Given the description of an element on the screen output the (x, y) to click on. 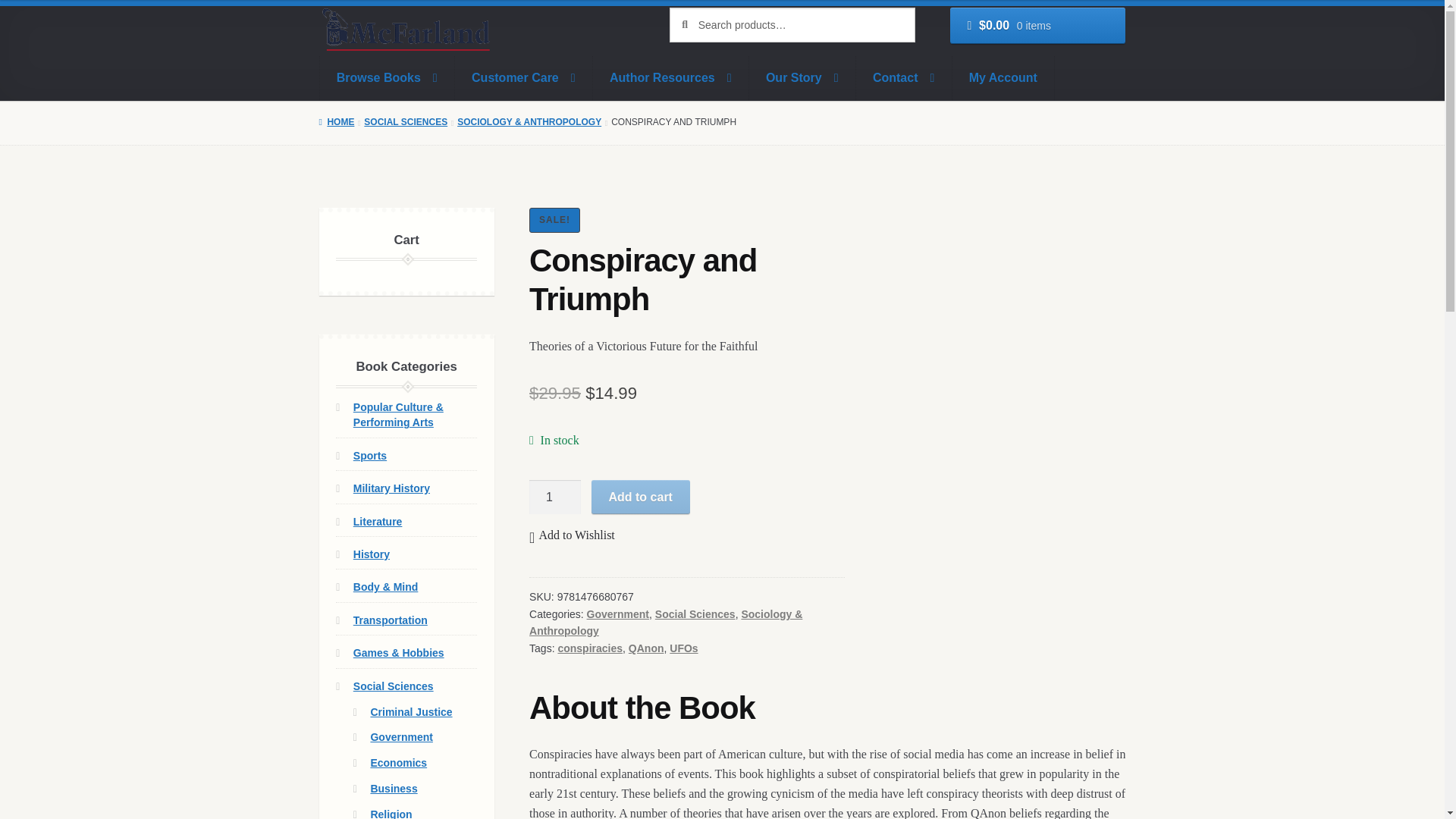
Browse Books (386, 77)
1 (554, 497)
View your shopping cart (1037, 25)
